Given the description of an element on the screen output the (x, y) to click on. 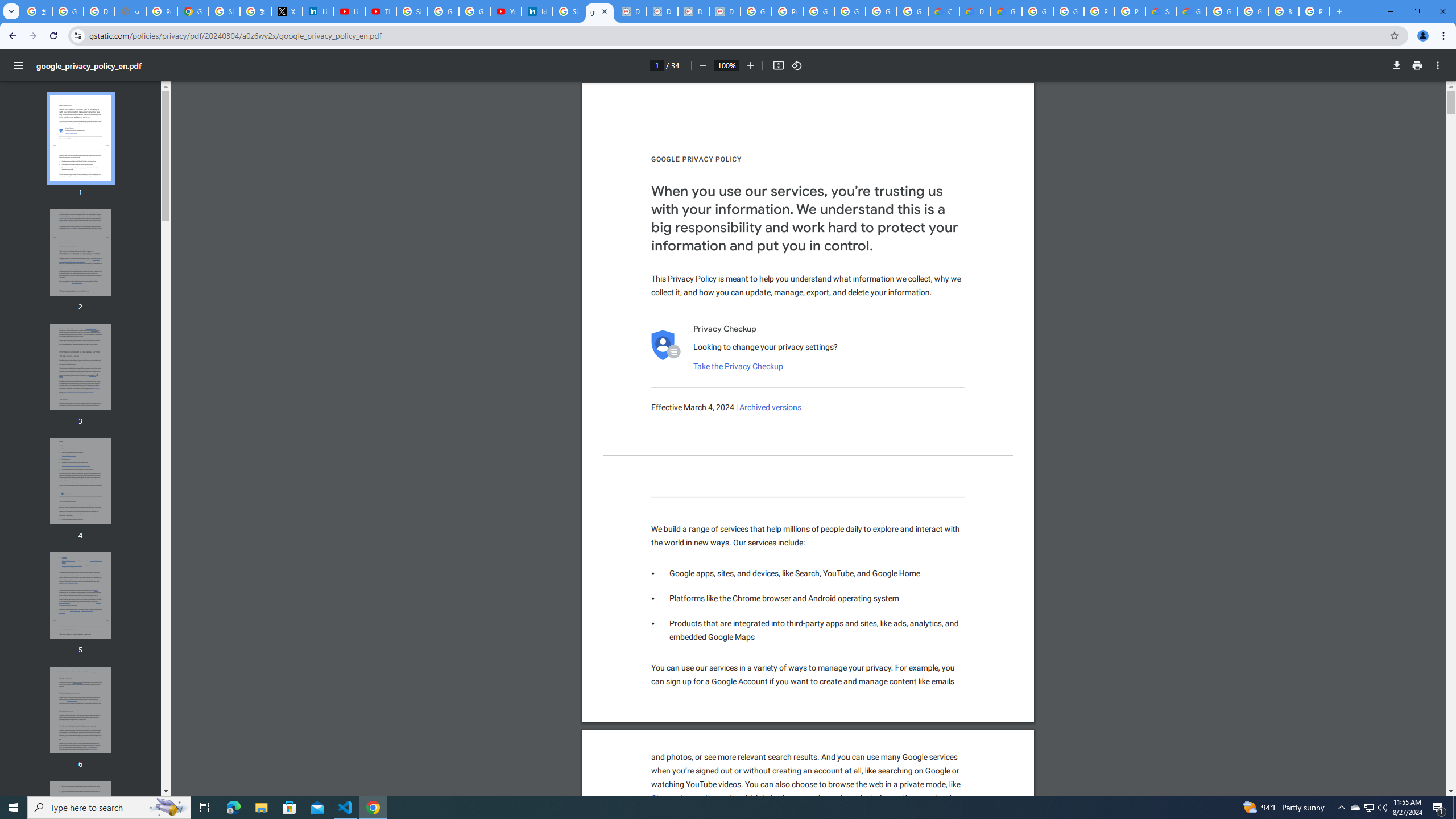
Sign in - Google Accounts (411, 11)
Thumbnail for page 2 (80, 252)
Privacy Help Center - Policies Help (161, 11)
Gemini for Business and Developers | Google Cloud (1005, 11)
Print (1416, 65)
Data Privacy Framework (662, 11)
Chrome Incognito (682, 798)
Sign in - Google Accounts (223, 11)
Page number (656, 64)
